Given the description of an element on the screen output the (x, y) to click on. 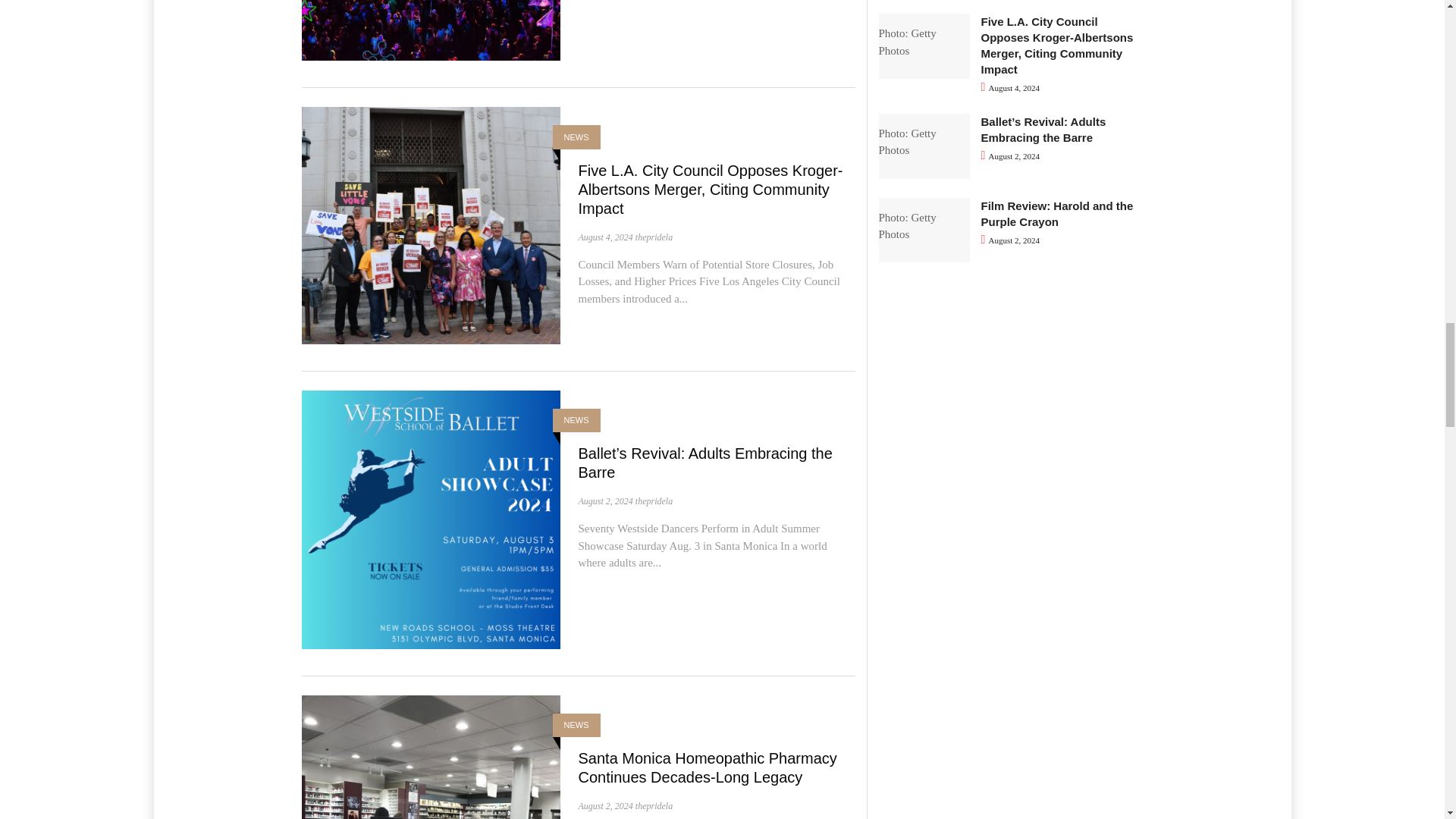
Posts by thepridela (653, 236)
